Given the description of an element on the screen output the (x, y) to click on. 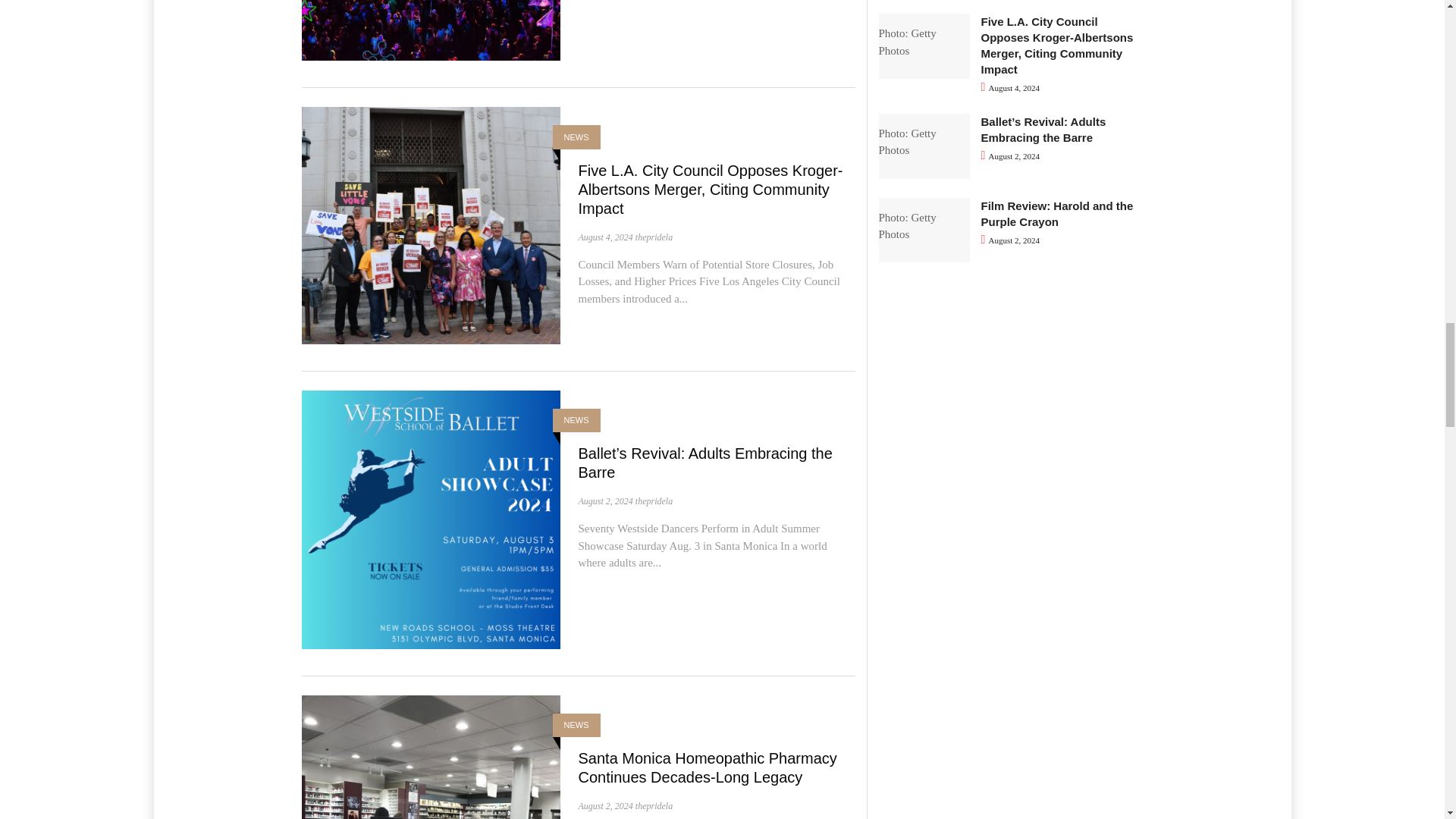
Posts by thepridela (653, 236)
